Given the description of an element on the screen output the (x, y) to click on. 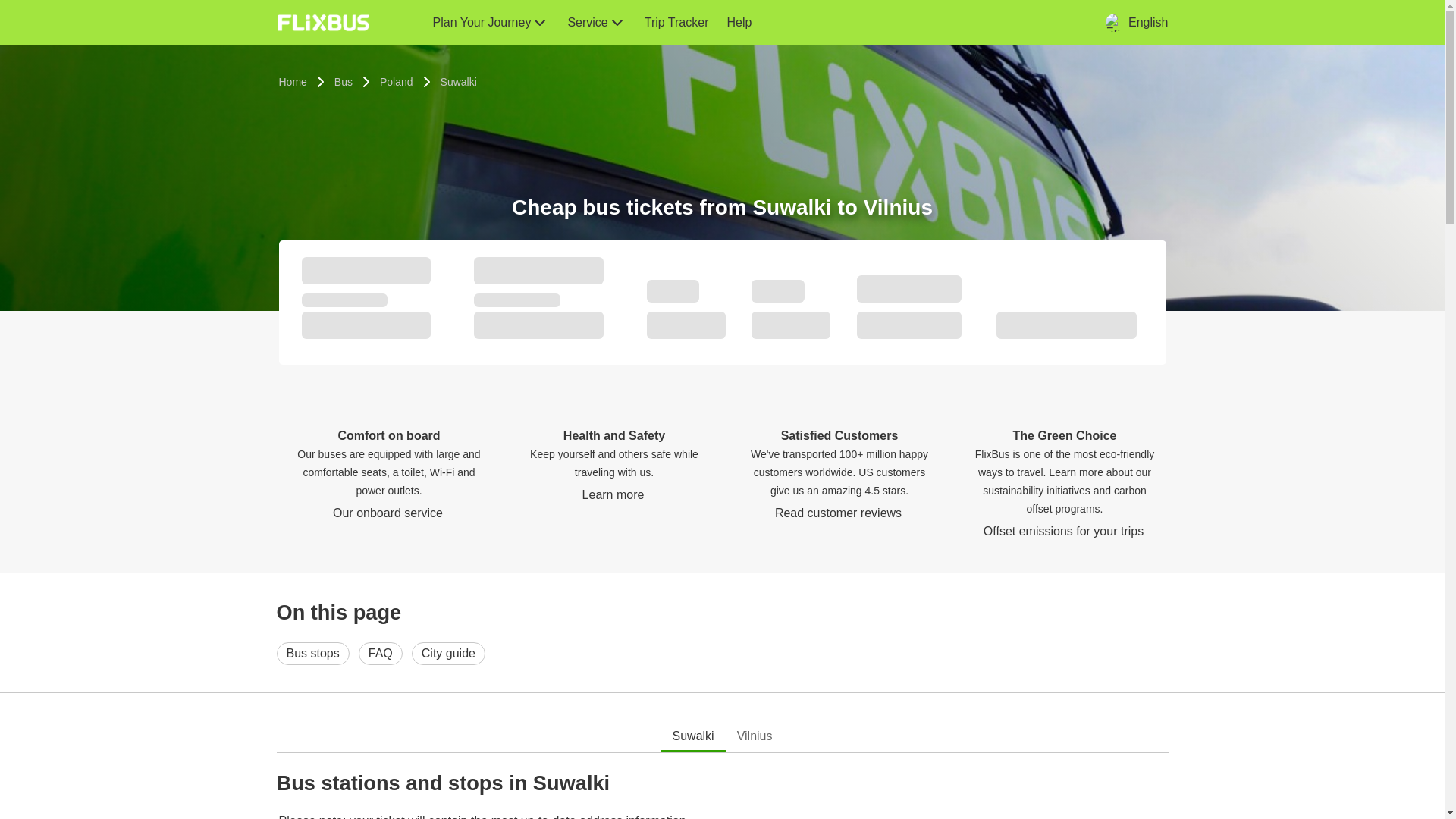
Trip Tracker (675, 22)
Suwalki (692, 735)
Suwalki (458, 81)
Home (292, 81)
Service (595, 22)
Suwalki (458, 81)
Help (738, 22)
English (1136, 22)
Home (292, 81)
Read customer reviews (839, 513)
Offset emissions for your trips (1064, 531)
Vilnius (754, 735)
Bus (343, 81)
FAQ (380, 653)
Poland (395, 81)
